Given the description of an element on the screen output the (x, y) to click on. 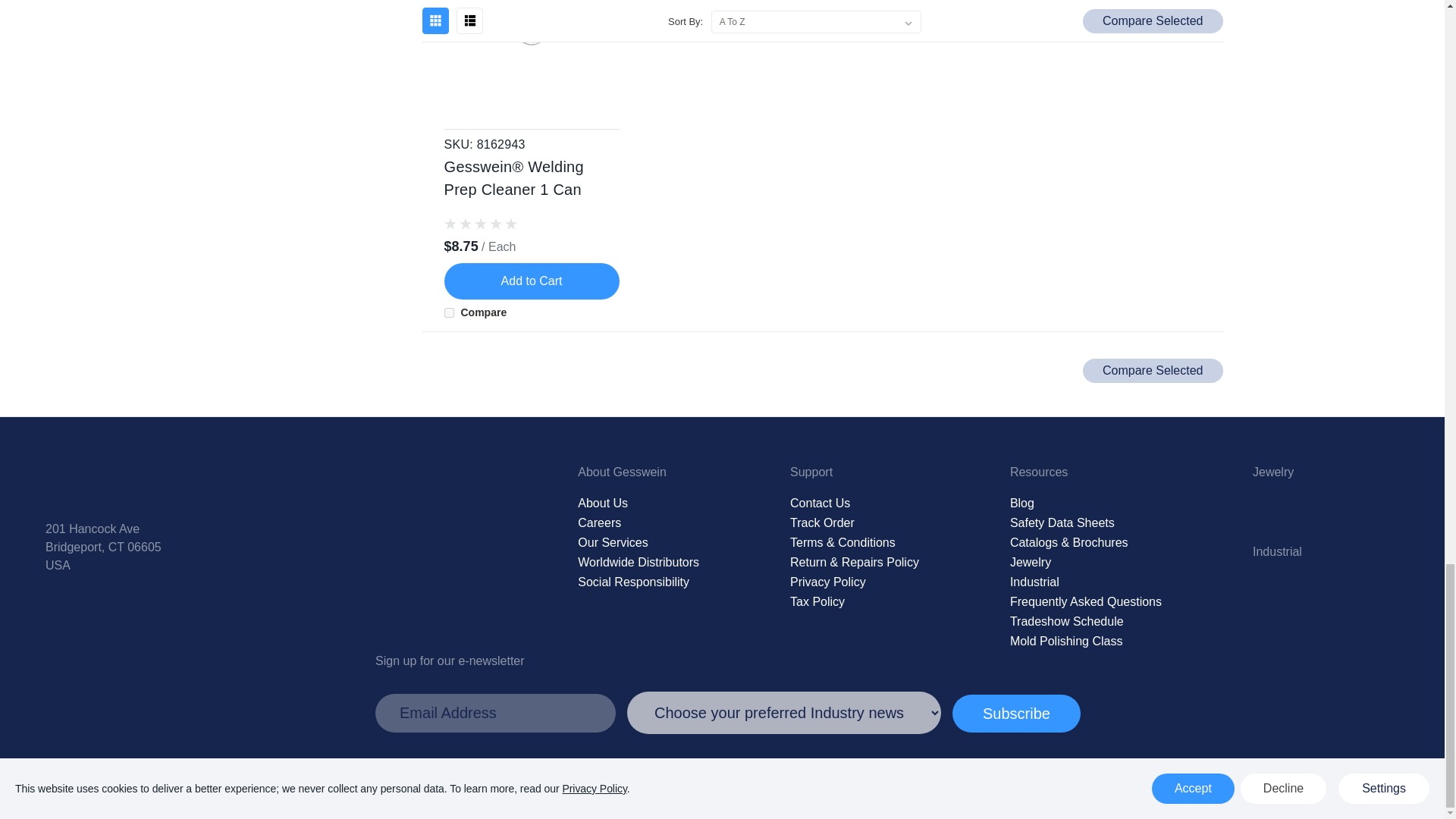
Subscribe (1016, 713)
9588 (449, 312)
